Given the description of an element on the screen output the (x, y) to click on. 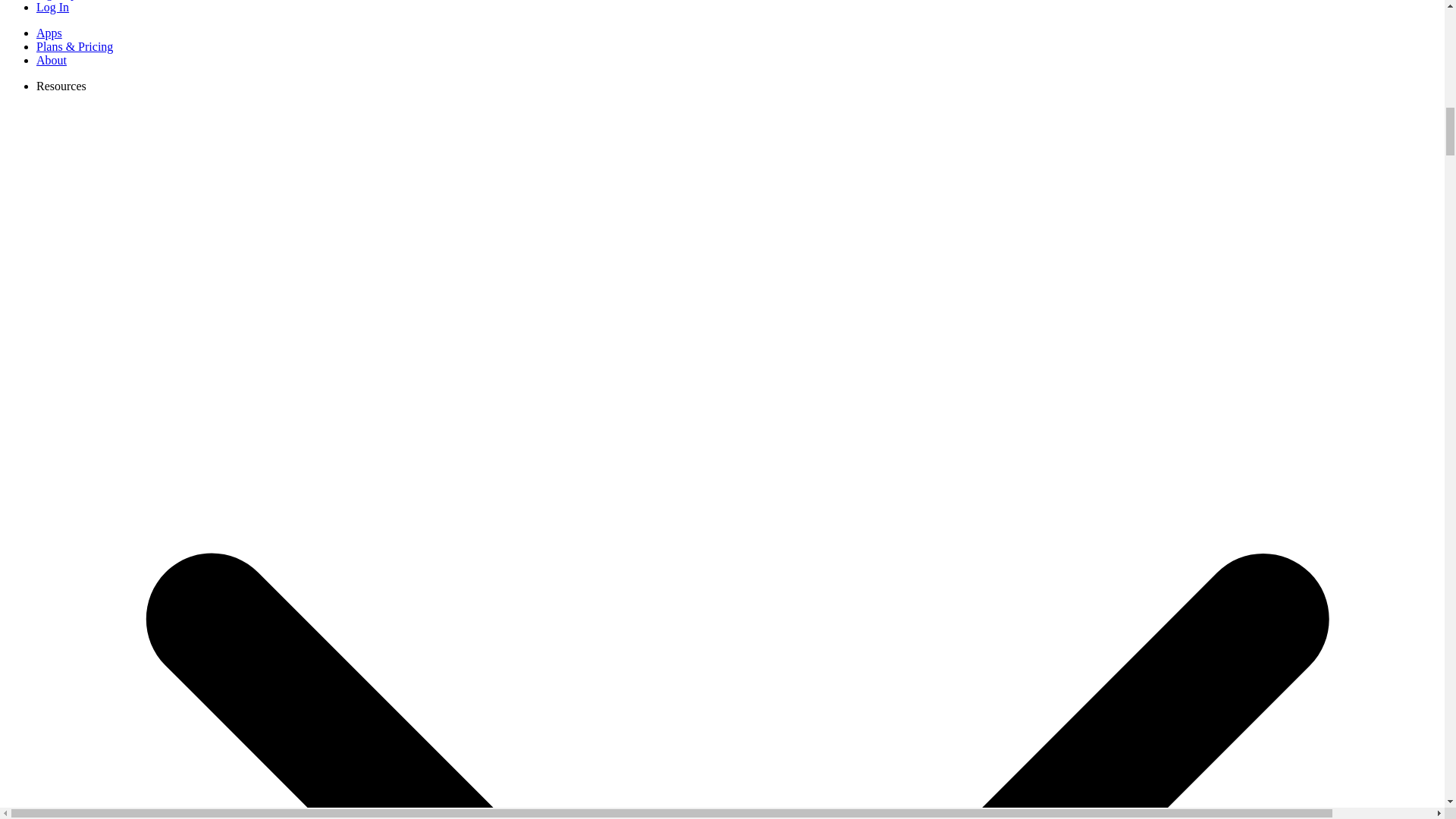
About (51, 60)
Log In (52, 6)
Apps (49, 32)
